Given the description of an element on the screen output the (x, y) to click on. 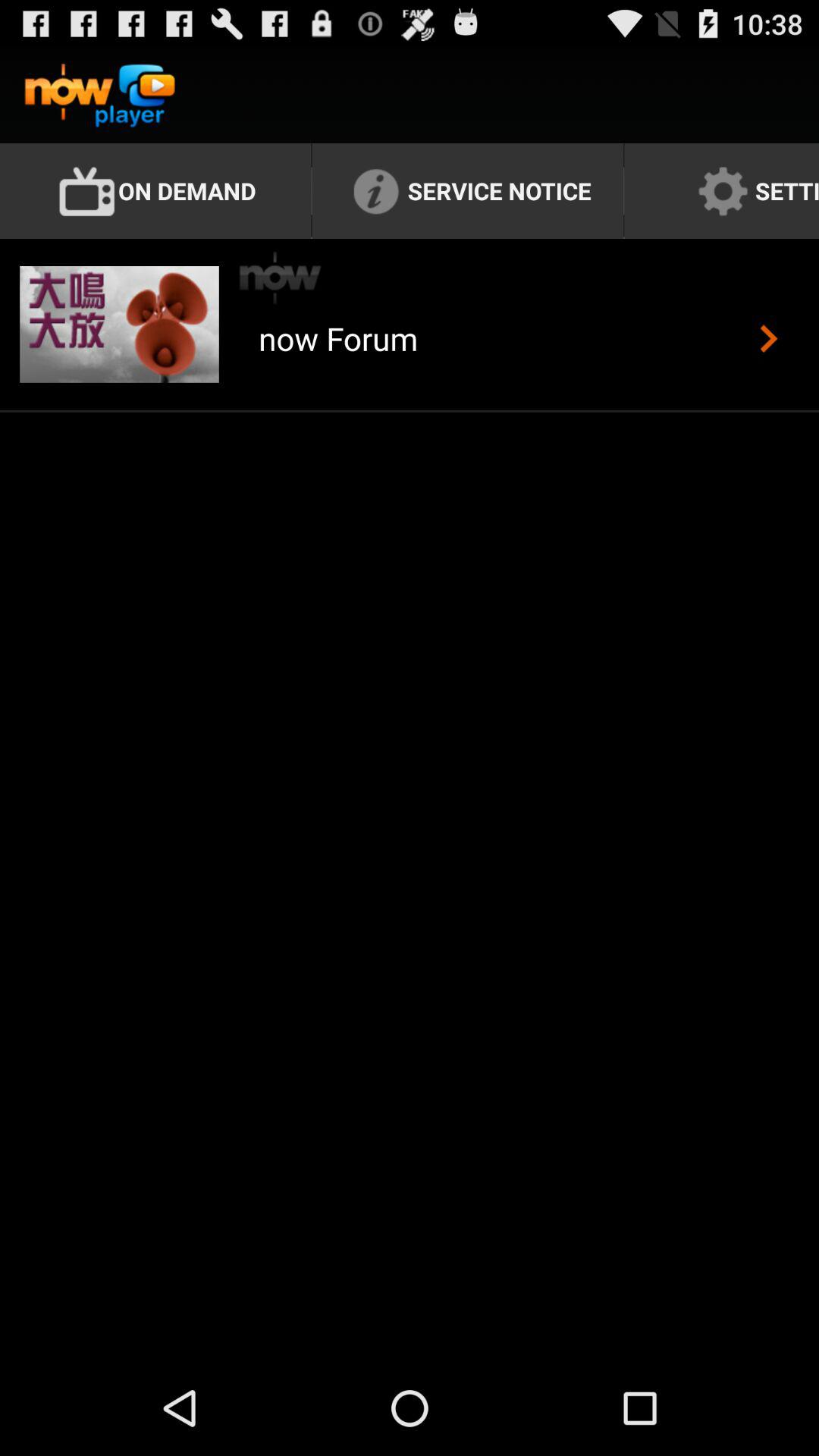
press the item next to the now forum app (769, 338)
